Given the description of an element on the screen output the (x, y) to click on. 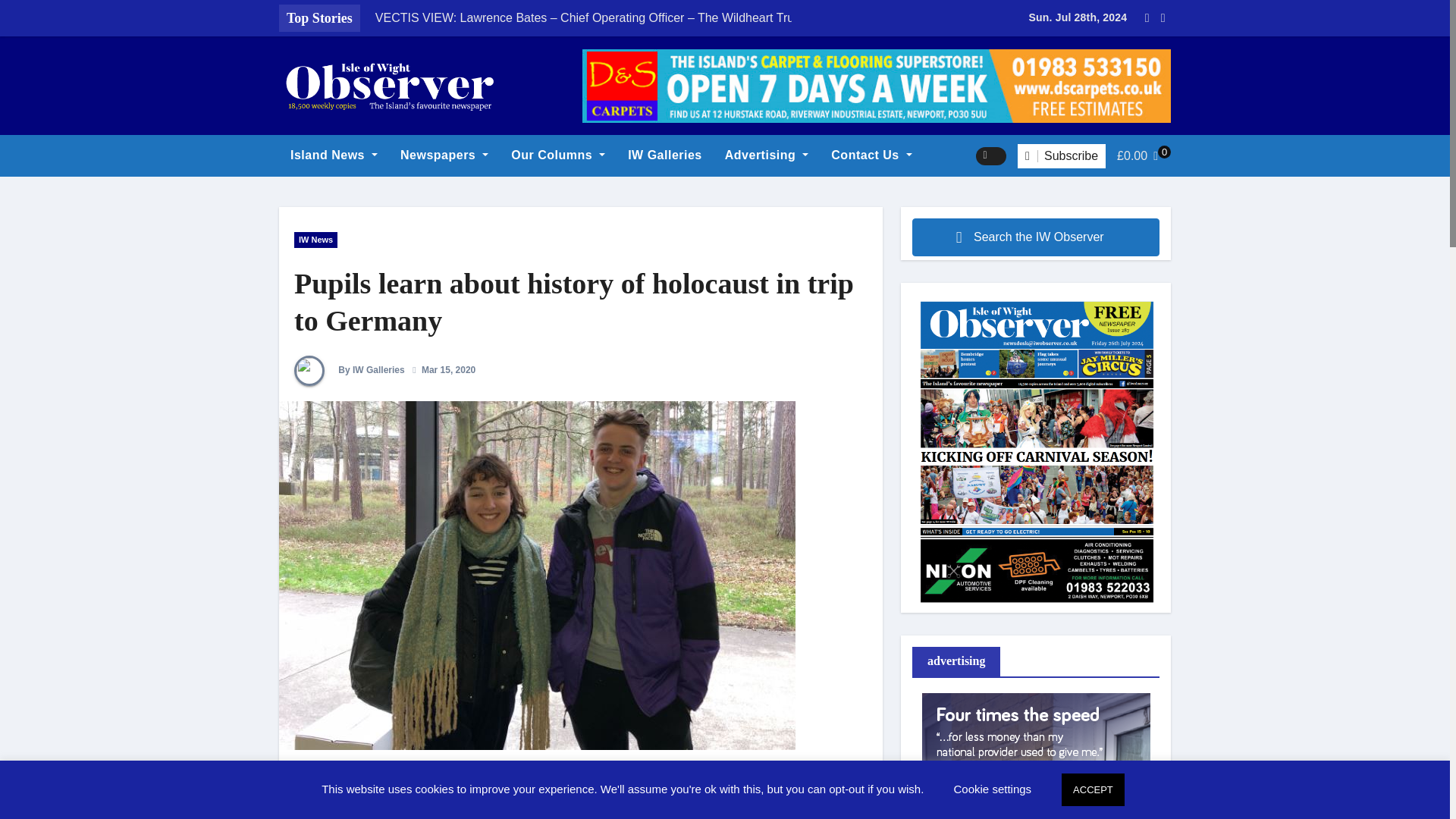
Island News (333, 155)
Newspapers (443, 155)
Our Columns (557, 155)
